Given the description of an element on the screen output the (x, y) to click on. 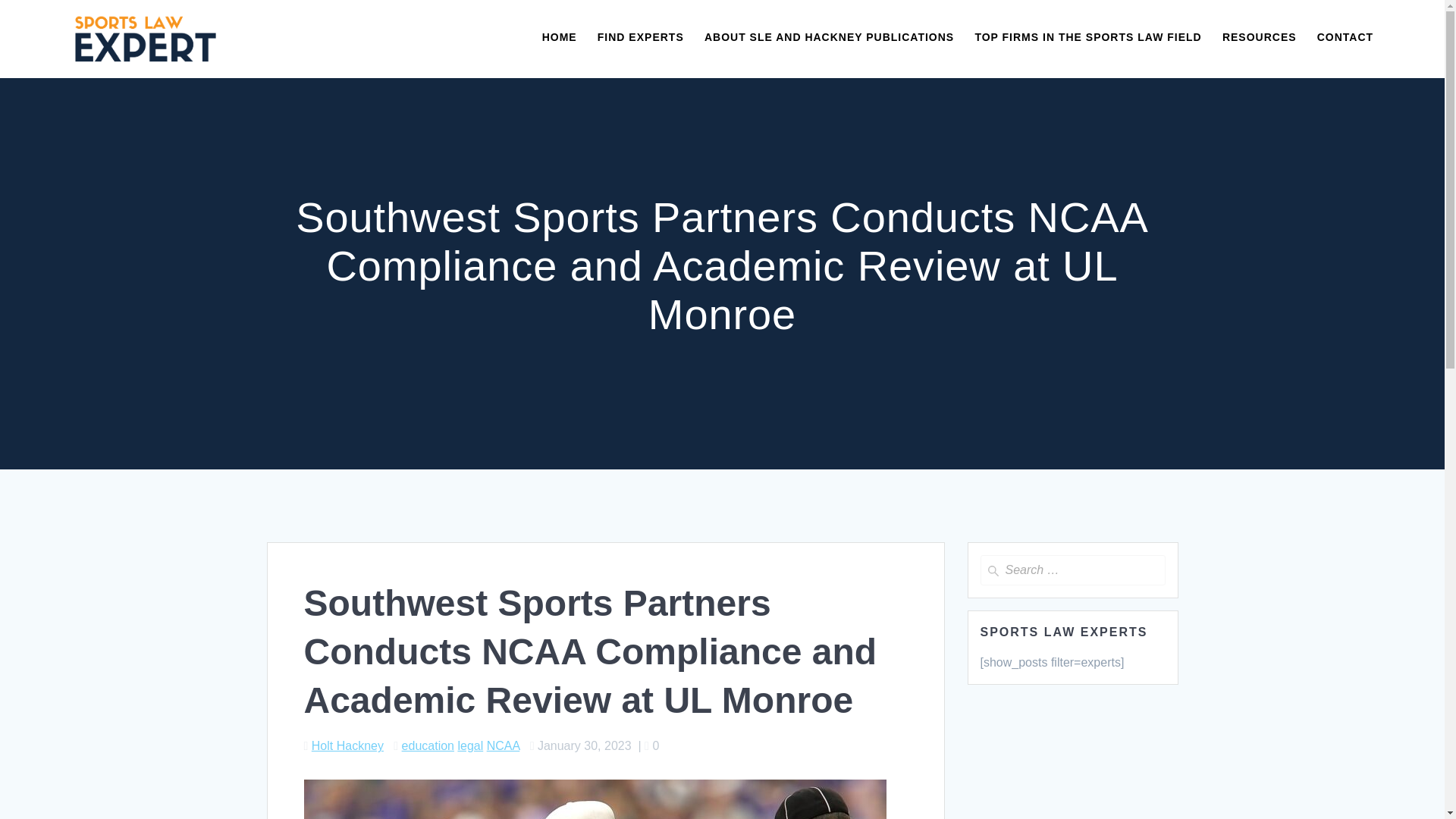
ABOUT SLE AND HACKNEY PUBLICATIONS (828, 37)
TOP FIRMS IN THE SPORTS LAW FIELD (1087, 37)
HOME (558, 37)
FIND EXPERTS (640, 37)
RESOURCES (1260, 37)
NCAA (502, 745)
Posts by Holt Hackney (347, 745)
education (427, 745)
legal (470, 745)
CONTACT (1345, 37)
Holt Hackney (347, 745)
